Given the description of an element on the screen output the (x, y) to click on. 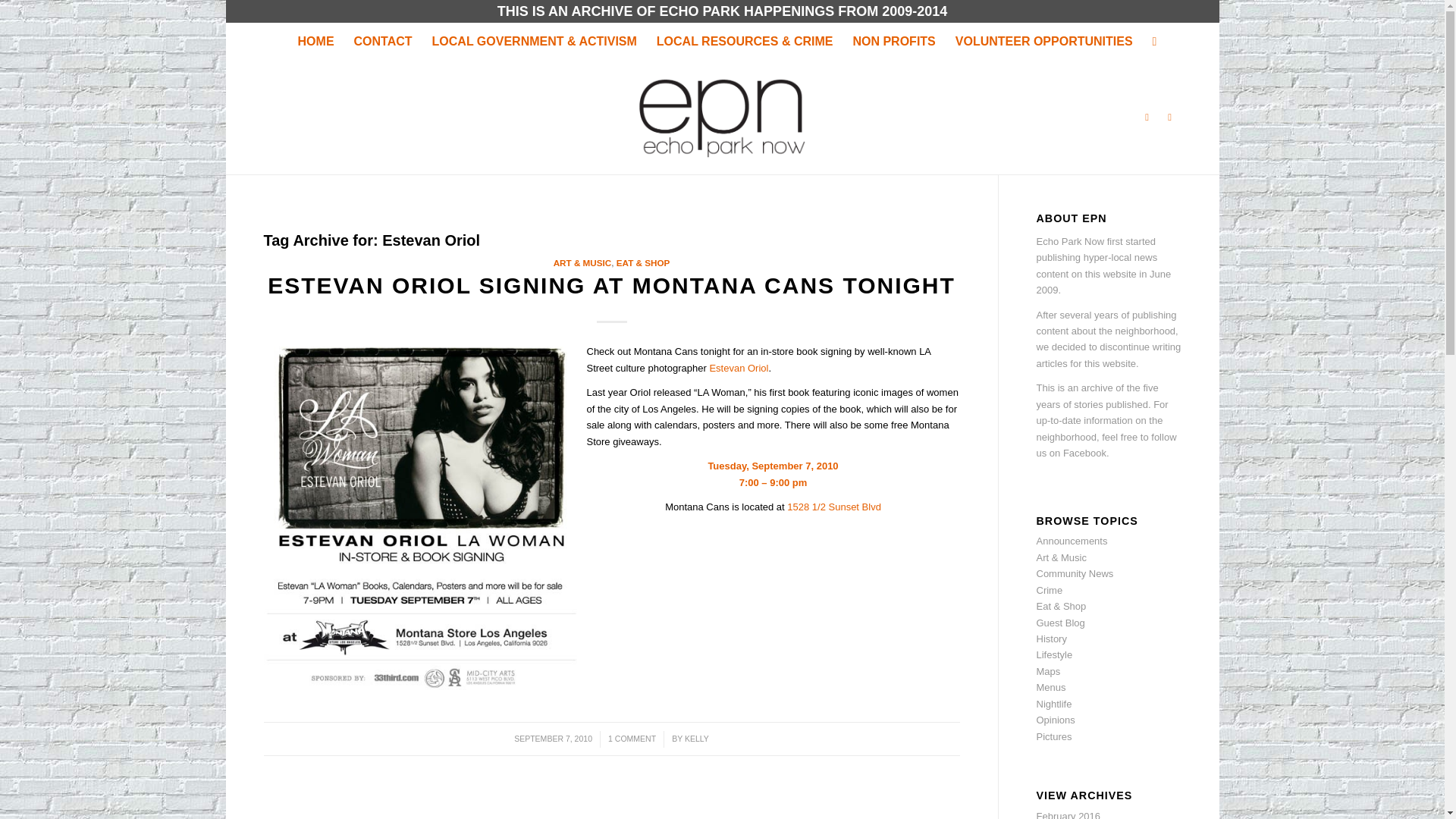
NON PROFITS (893, 41)
1 COMMENT (632, 737)
KELLY (696, 737)
Posts by Kelly (696, 737)
HOME (315, 41)
CONTACT (382, 41)
Estevan Oriol (738, 367)
ESTEVAN ORIOL SIGNING AT MONTANA CANS TONIGHT (611, 285)
